Given the description of an element on the screen output the (x, y) to click on. 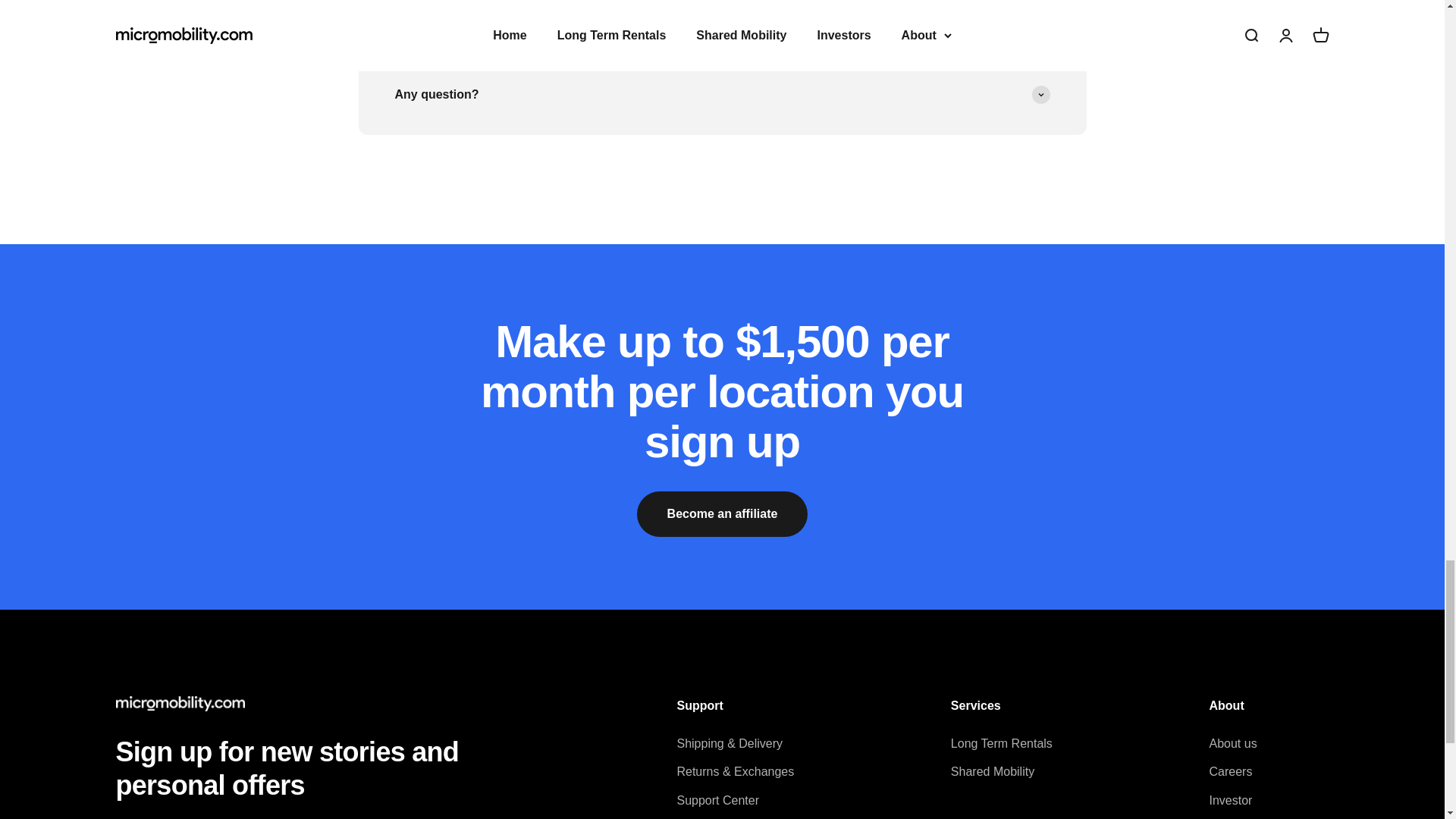
Support Center (717, 800)
Careers (1230, 772)
Long Term Rentals (1001, 743)
About us (1232, 743)
Shared Mobility (991, 772)
Become an affiliate (722, 514)
